Given the description of an element on the screen output the (x, y) to click on. 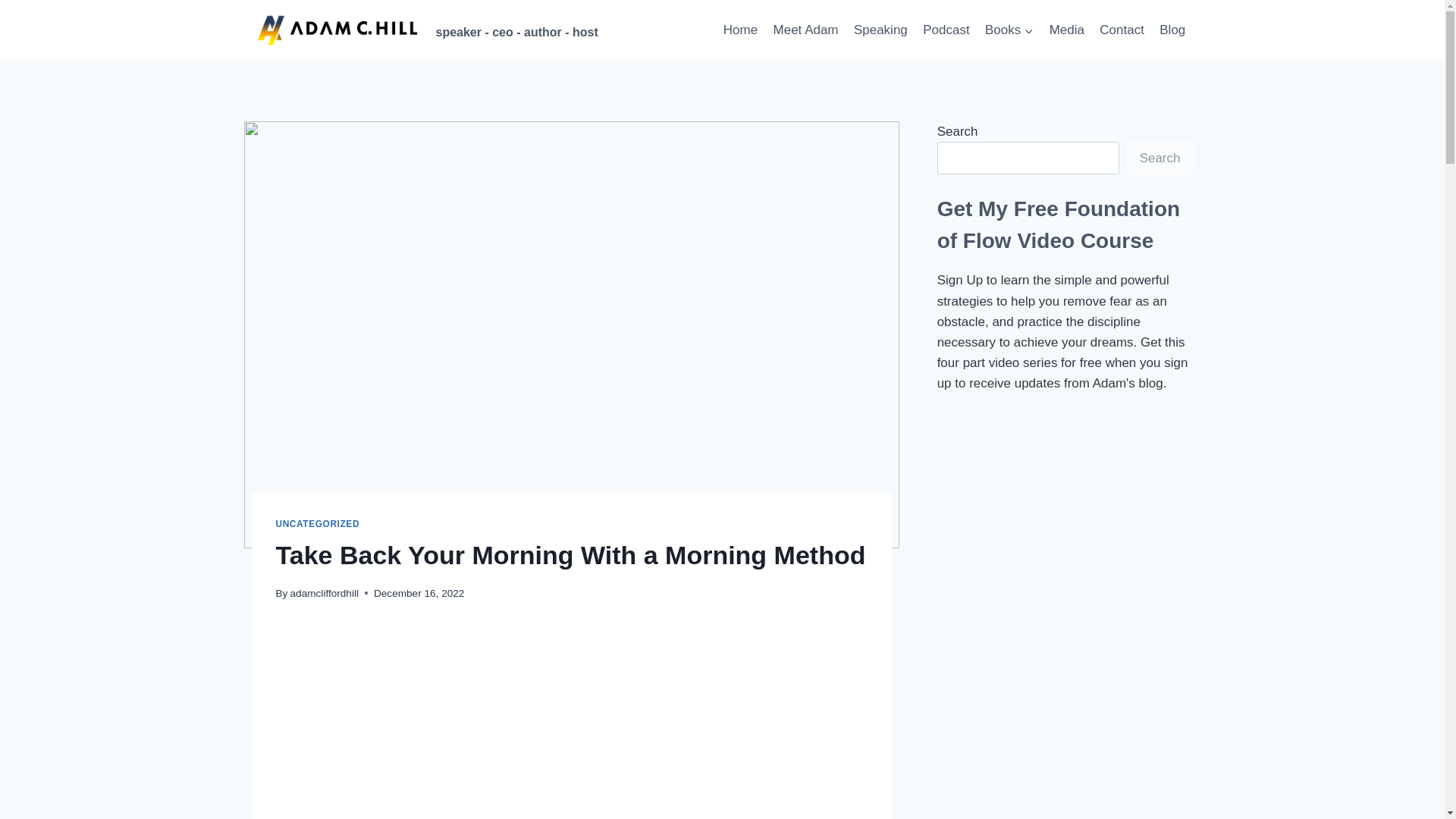
adamcliffordhill (323, 593)
Media (1066, 30)
speaker - ceo - author - host (424, 29)
Contact (1121, 30)
Home (740, 30)
Blog (1171, 30)
Books (1009, 30)
Speaking (880, 30)
Podcast (945, 30)
UNCATEGORIZED (317, 523)
Meet Adam (805, 30)
YouTube video player (571, 722)
